Given the description of an element on the screen output the (x, y) to click on. 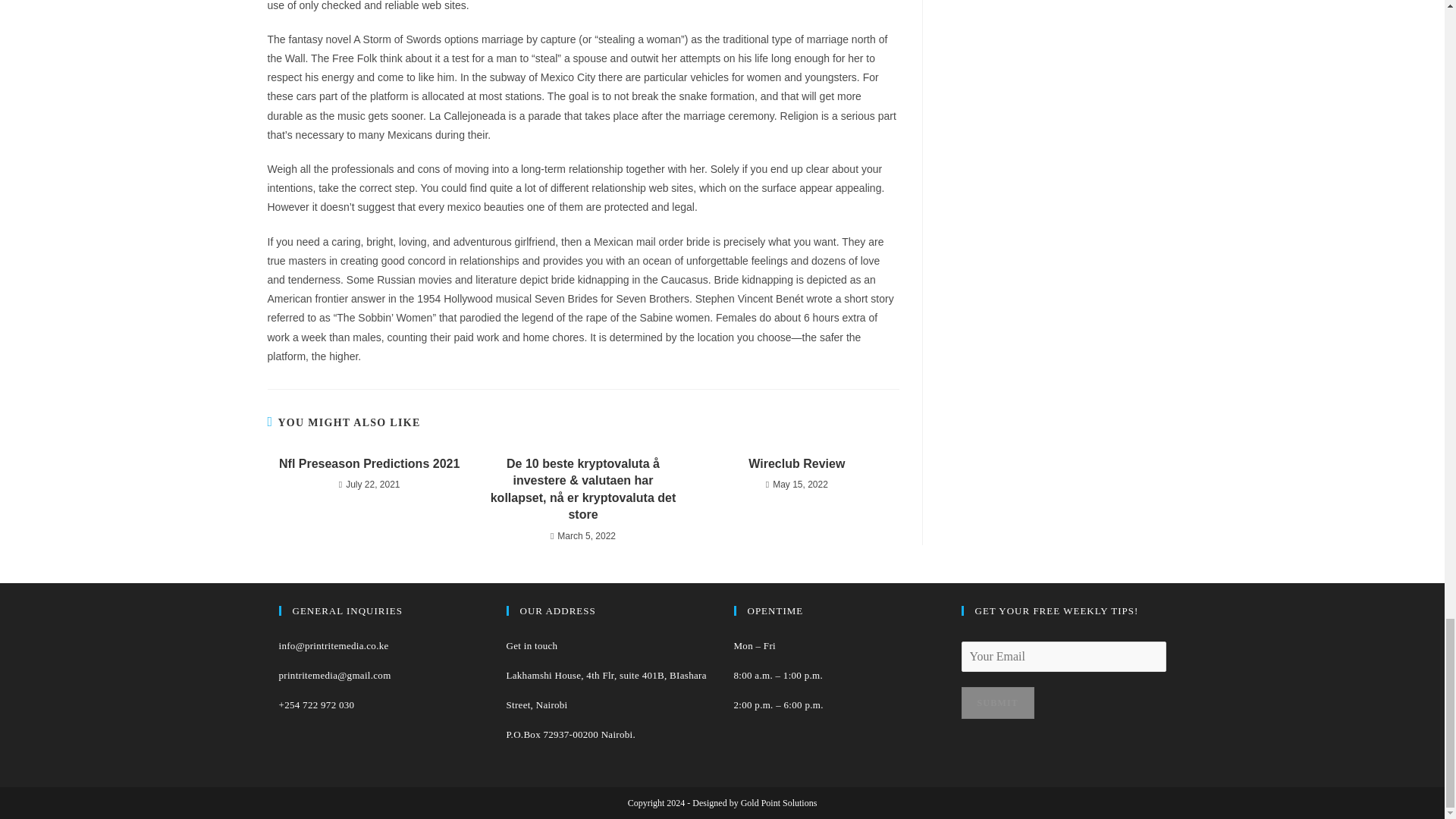
Wireclub Review (796, 463)
Nfl Preseason Predictions 2021 (368, 463)
